Given the description of an element on the screen output the (x, y) to click on. 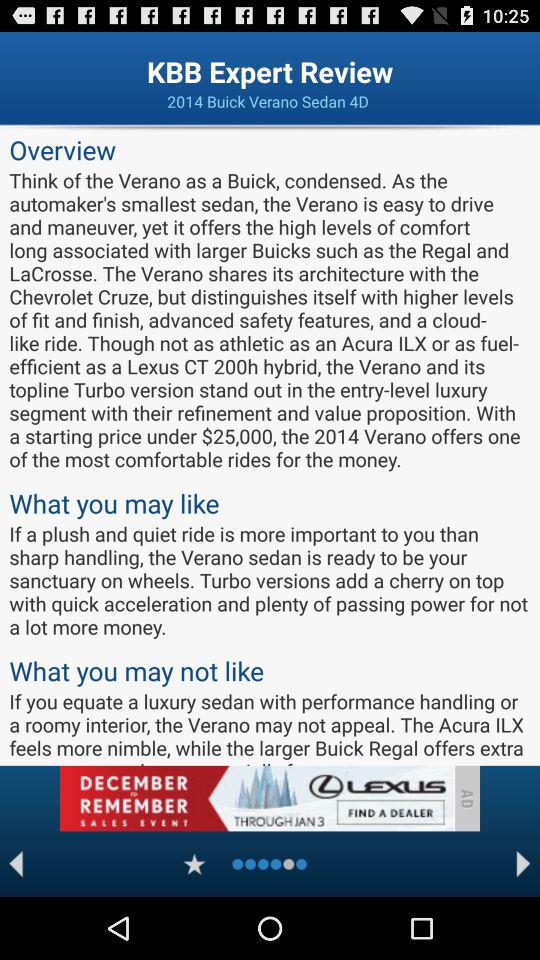
click advertisement (256, 798)
